Given the description of an element on the screen output the (x, y) to click on. 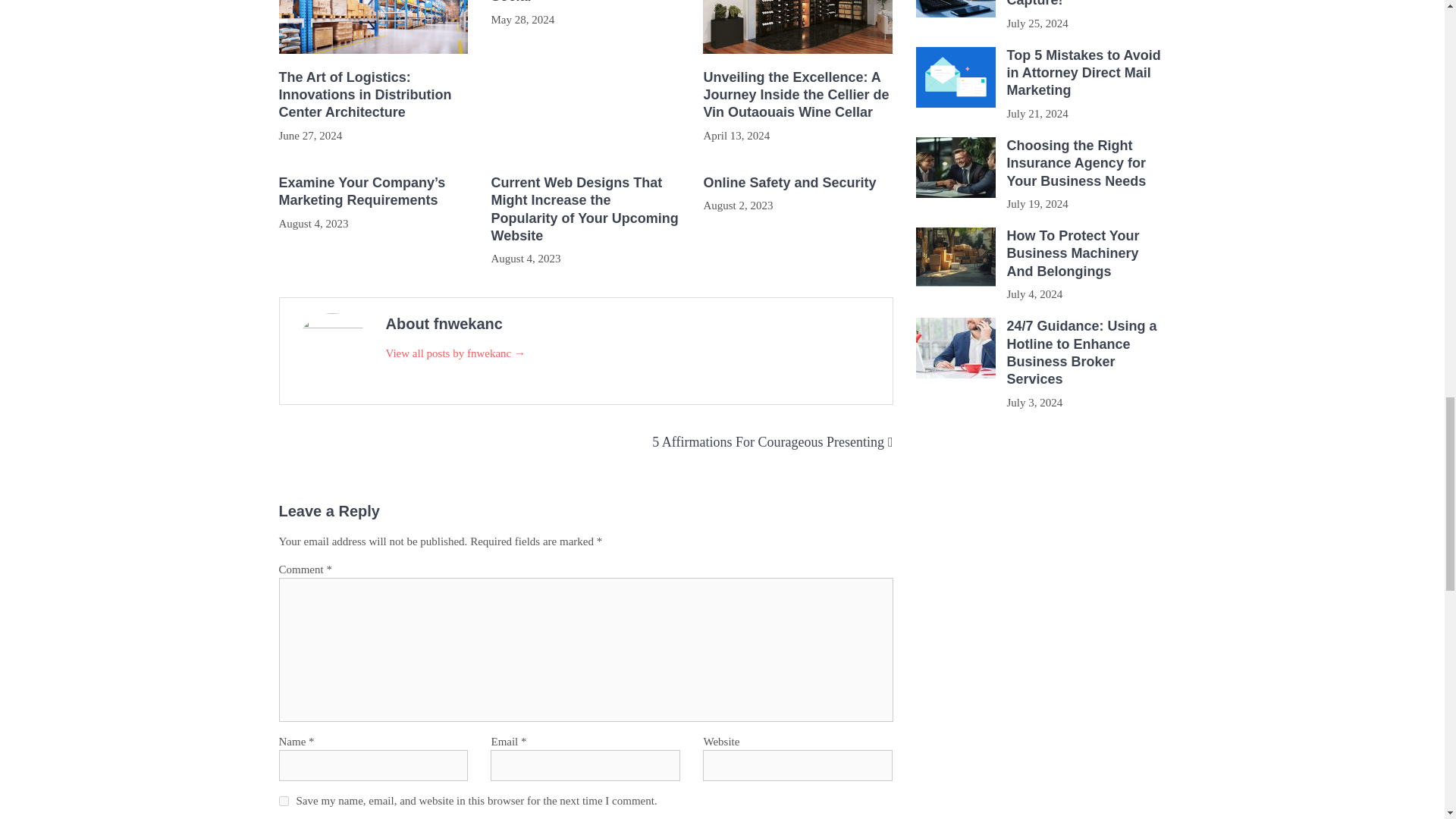
Discover the Power of B2B Marketing With C Squared Social (584, 2)
5 Affirmations For Courageous Presenting (767, 441)
yes (283, 800)
Online Safety and Security (797, 182)
